Given the description of an element on the screen output the (x, y) to click on. 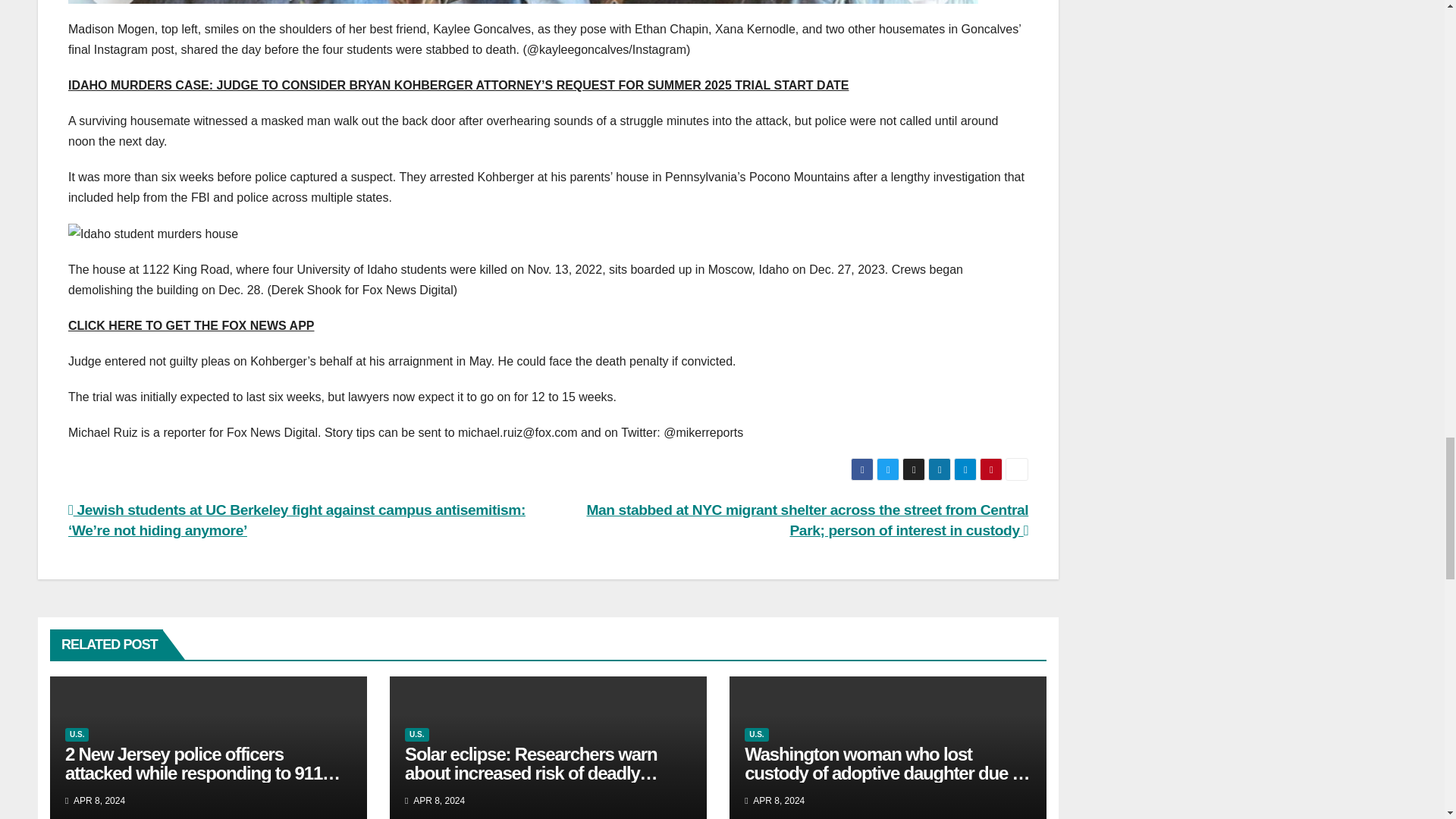
U.S. (416, 735)
U.S. (756, 735)
U.S. (76, 735)
